Given the description of an element on the screen output the (x, y) to click on. 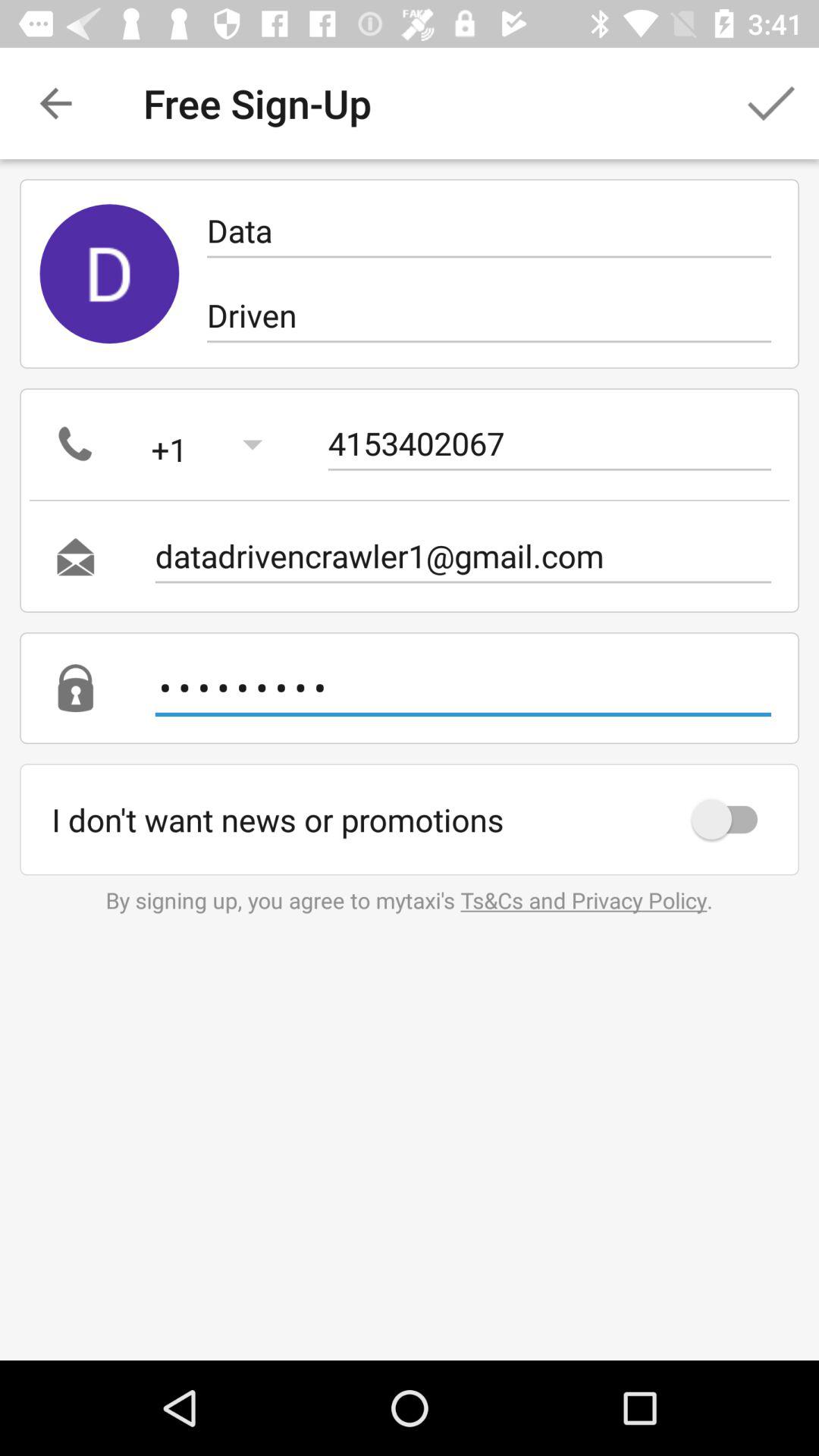
click data item (489, 230)
